Given the description of an element on the screen output the (x, y) to click on. 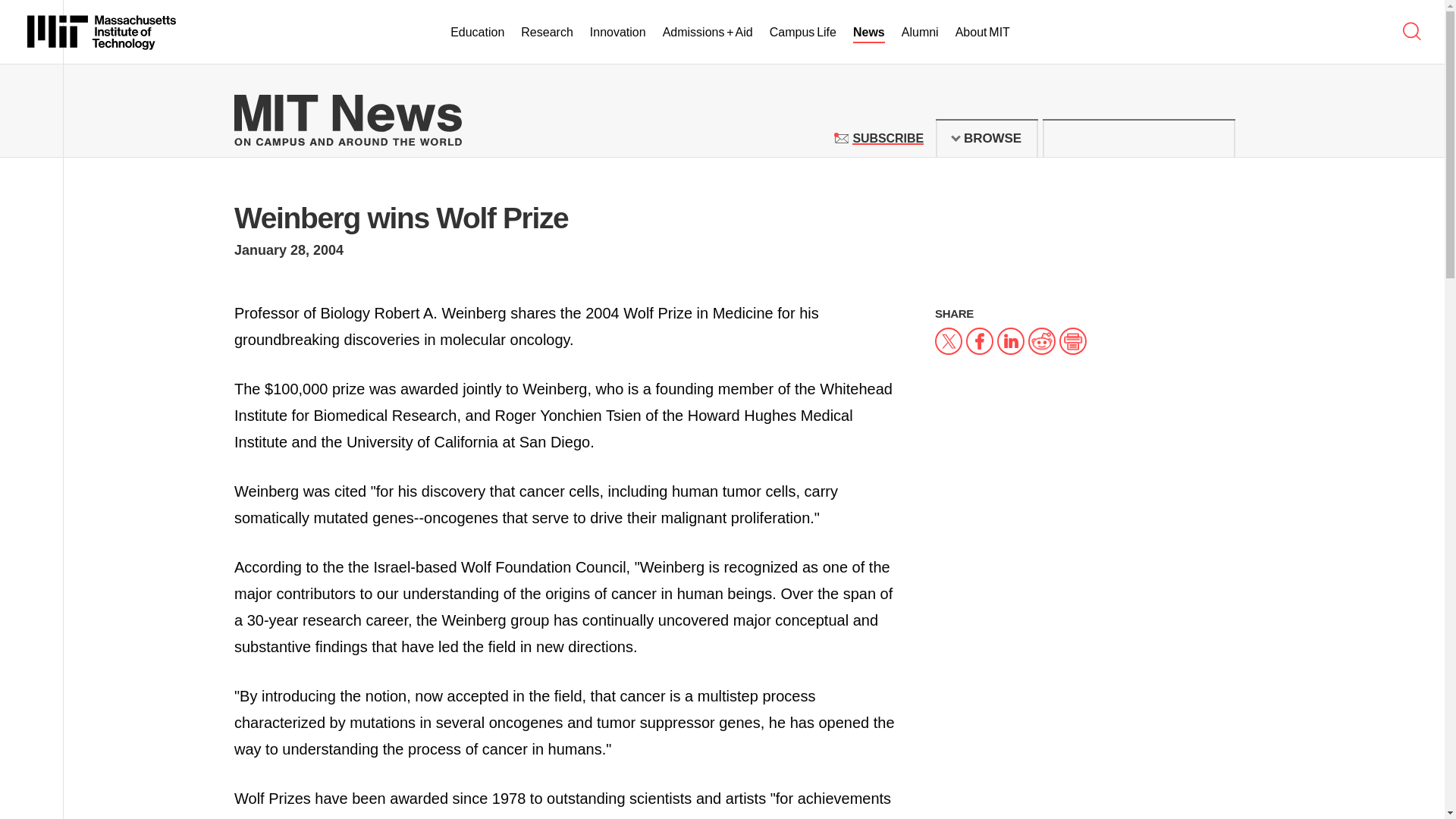
Submit (1214, 138)
Campus Life (802, 32)
Massachusetts Institute of Technology (101, 32)
BROWSE (887, 137)
